Given the description of an element on the screen output the (x, y) to click on. 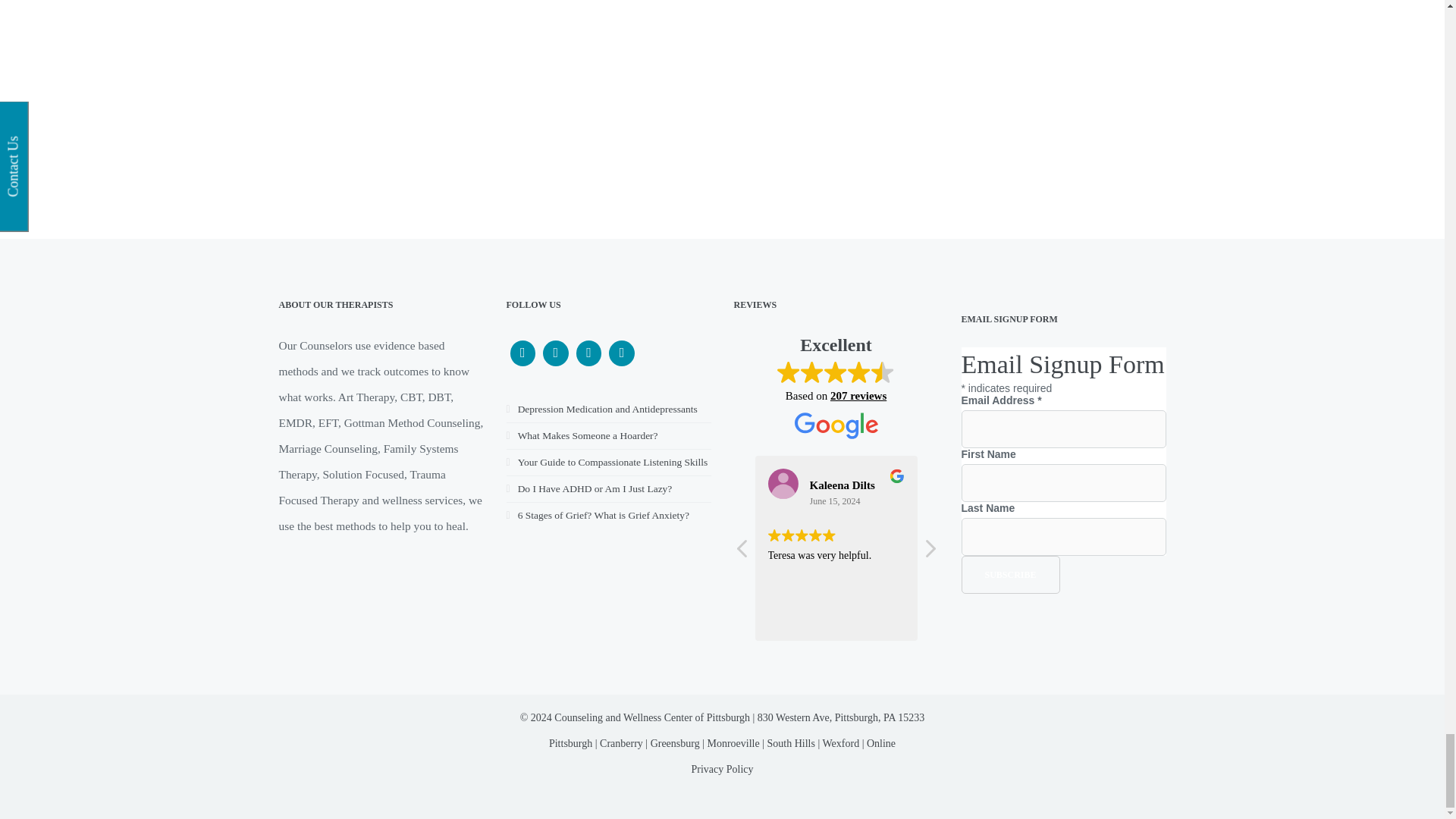
Subscribe (1009, 574)
